Given the description of an element on the screen output the (x, y) to click on. 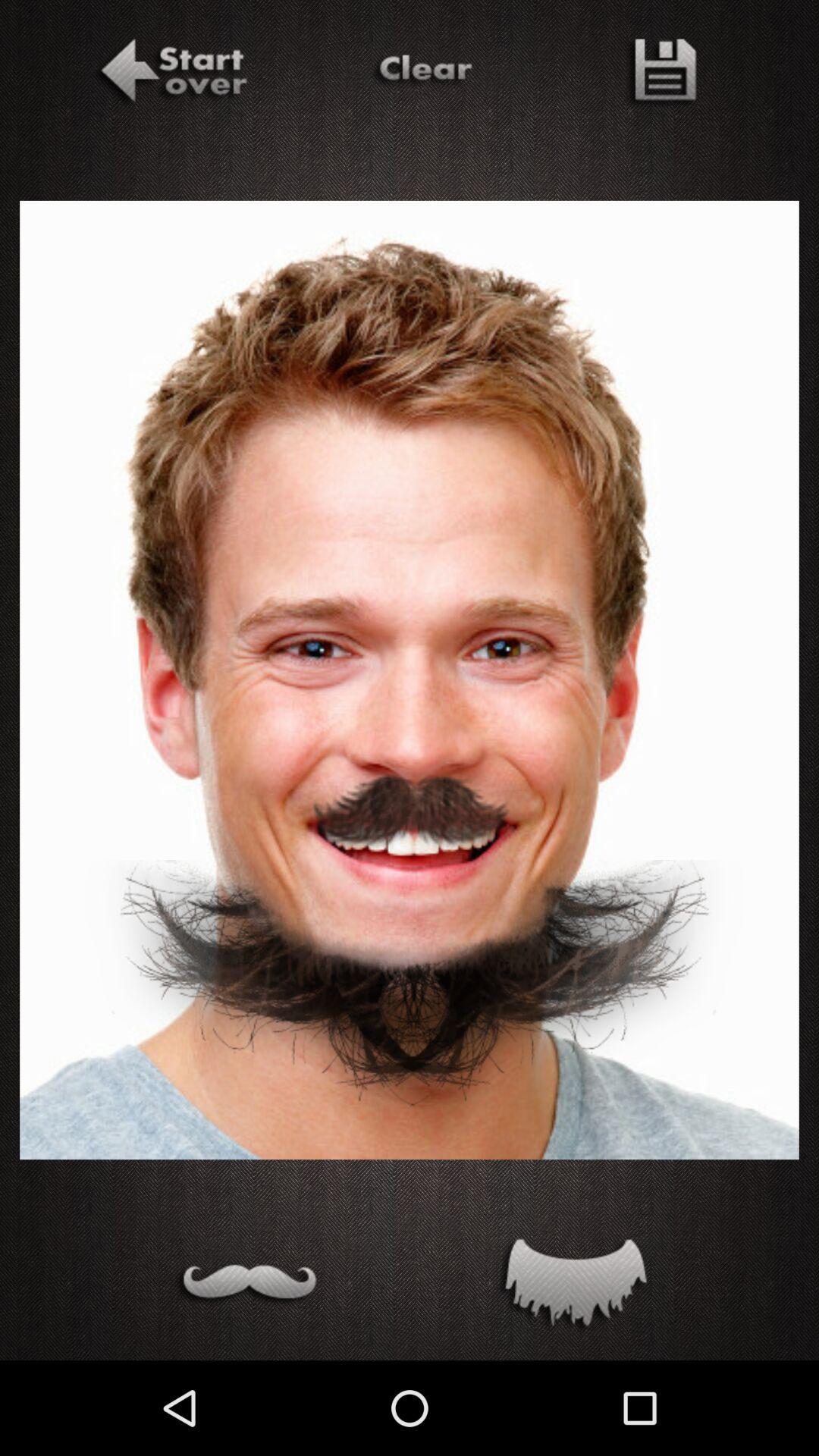
apply moustache (245, 1286)
